Given the description of an element on the screen output the (x, y) to click on. 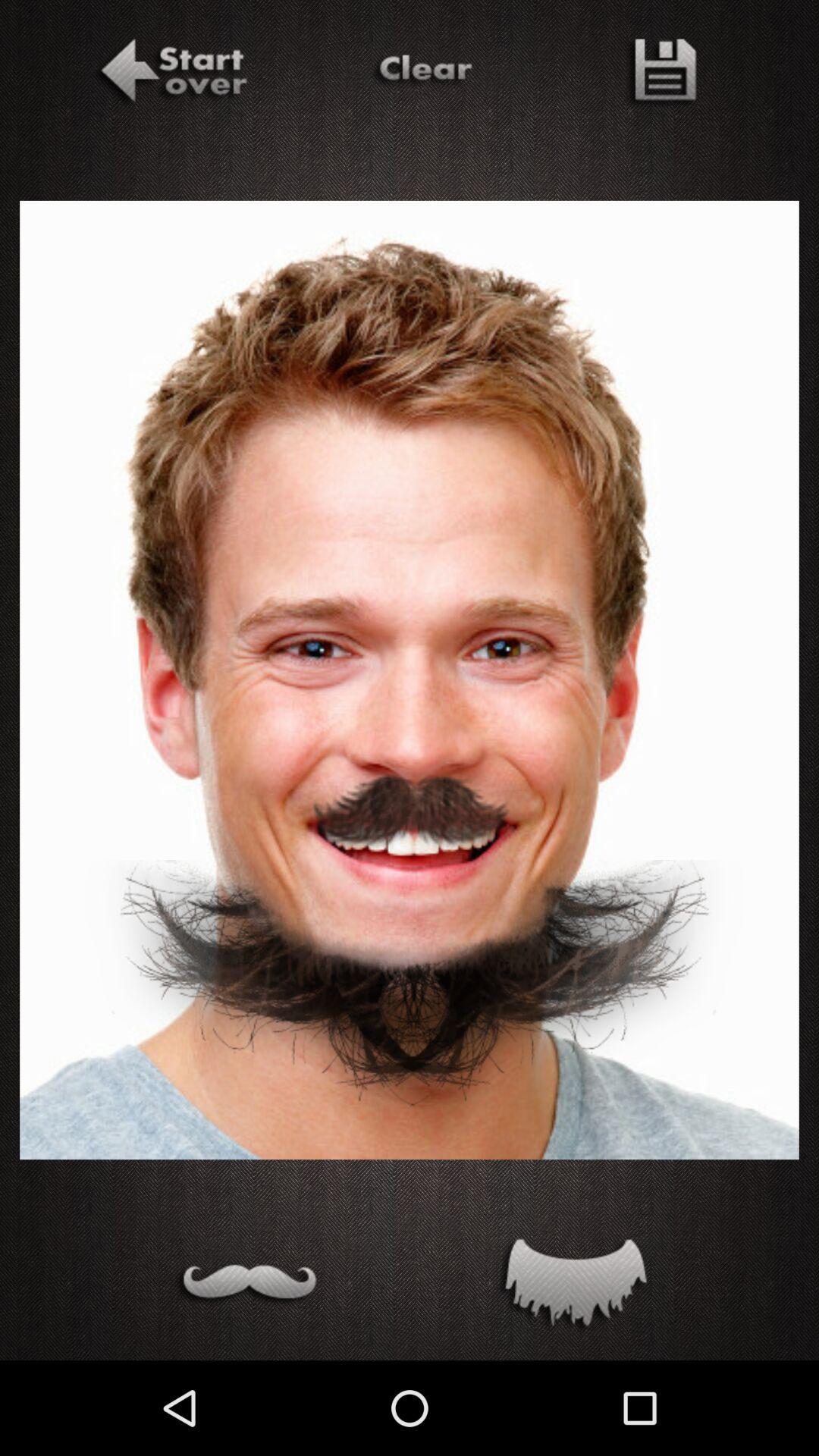
apply moustache (245, 1286)
